Given the description of an element on the screen output the (x, y) to click on. 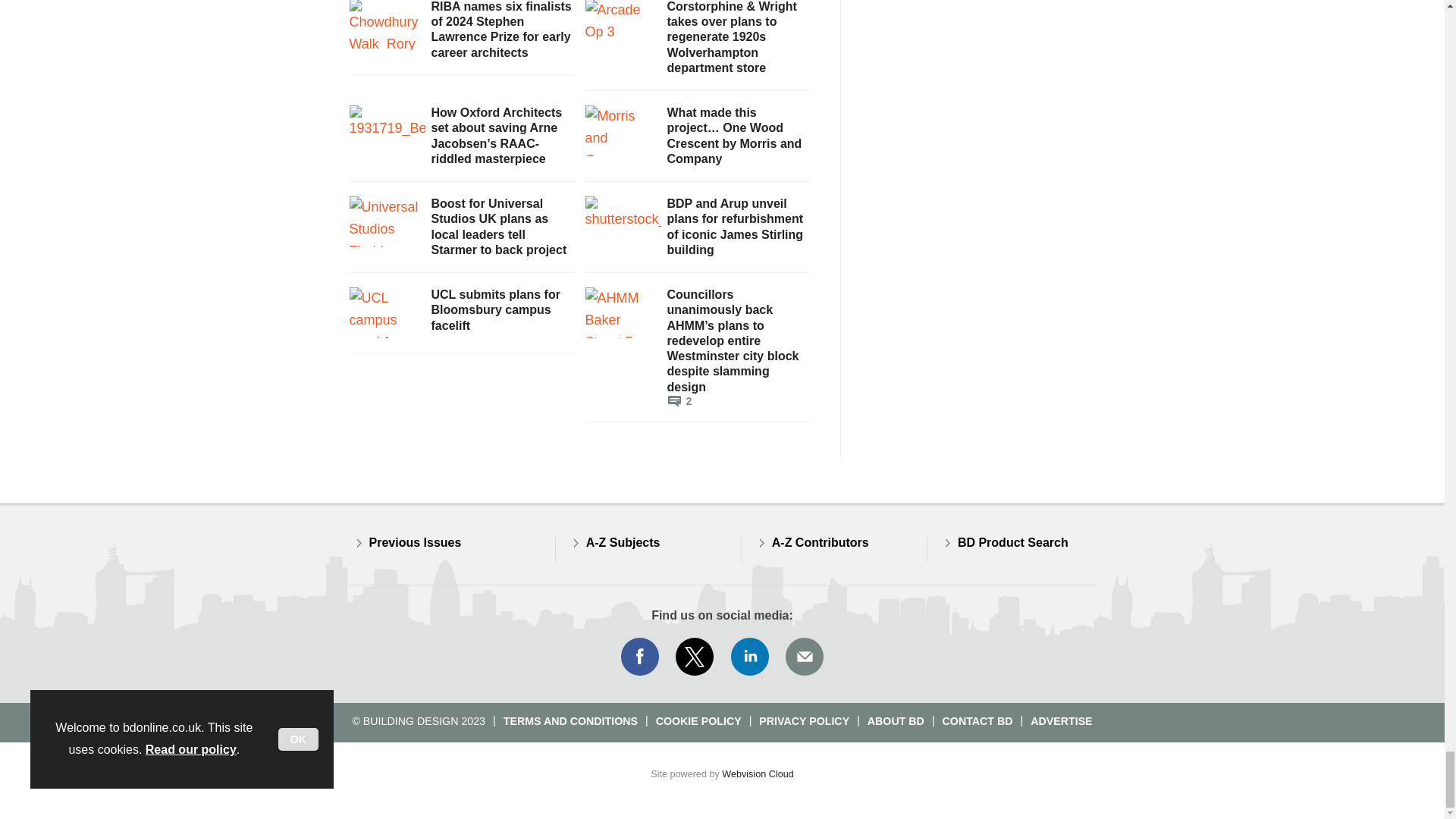
Connect with us on Twitter (694, 656)
Connect with us on Facebook (639, 656)
Connect with us on Linked in (750, 656)
Email us (804, 656)
